Given the description of an element on the screen output the (x, y) to click on. 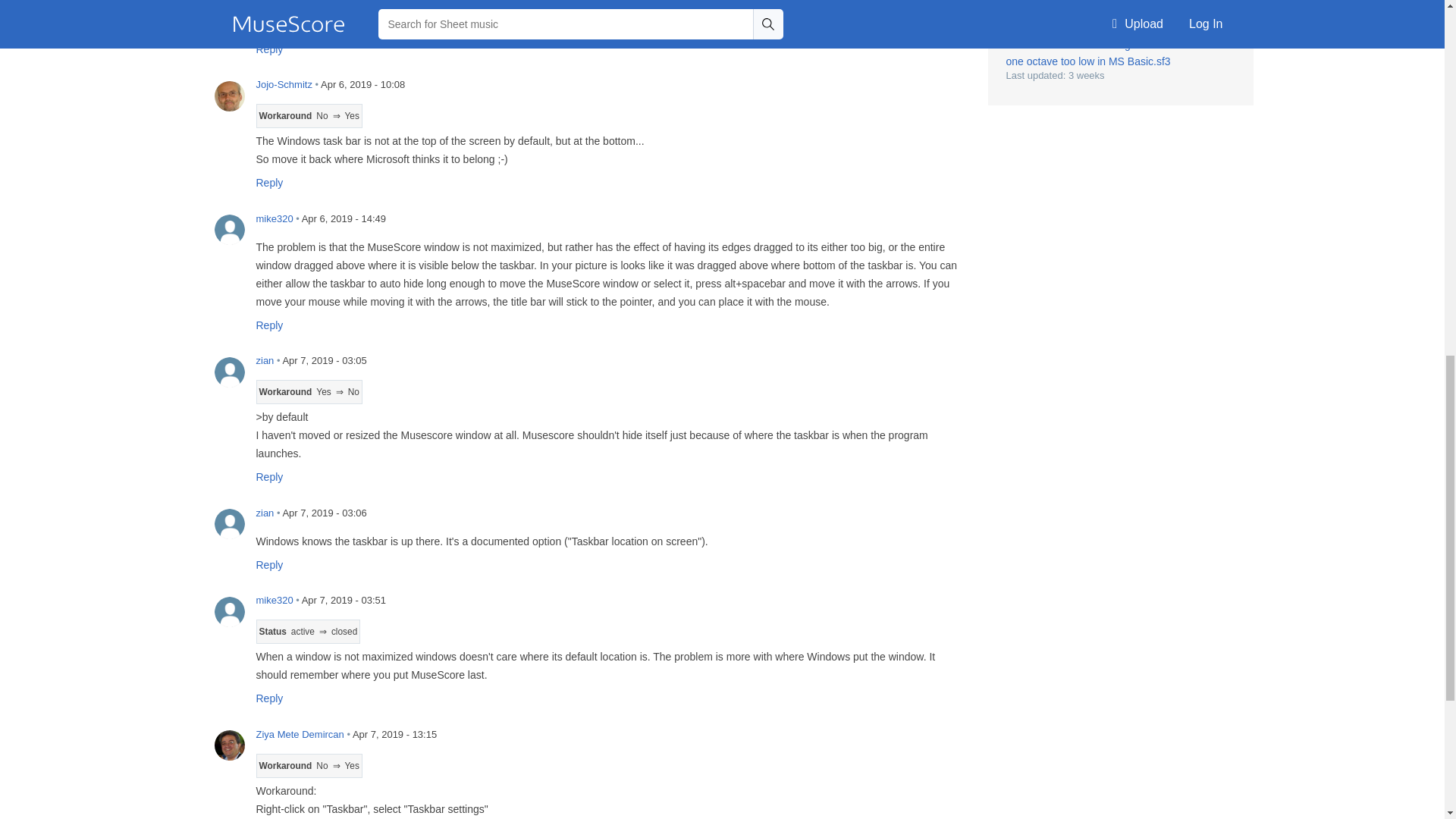
zian (229, 371)
mike320 (229, 229)
mike320 (229, 611)
Ziya Mete Demircan (229, 745)
zian (229, 8)
Jojo-Schmitz (229, 95)
zian (229, 523)
